Given the description of an element on the screen output the (x, y) to click on. 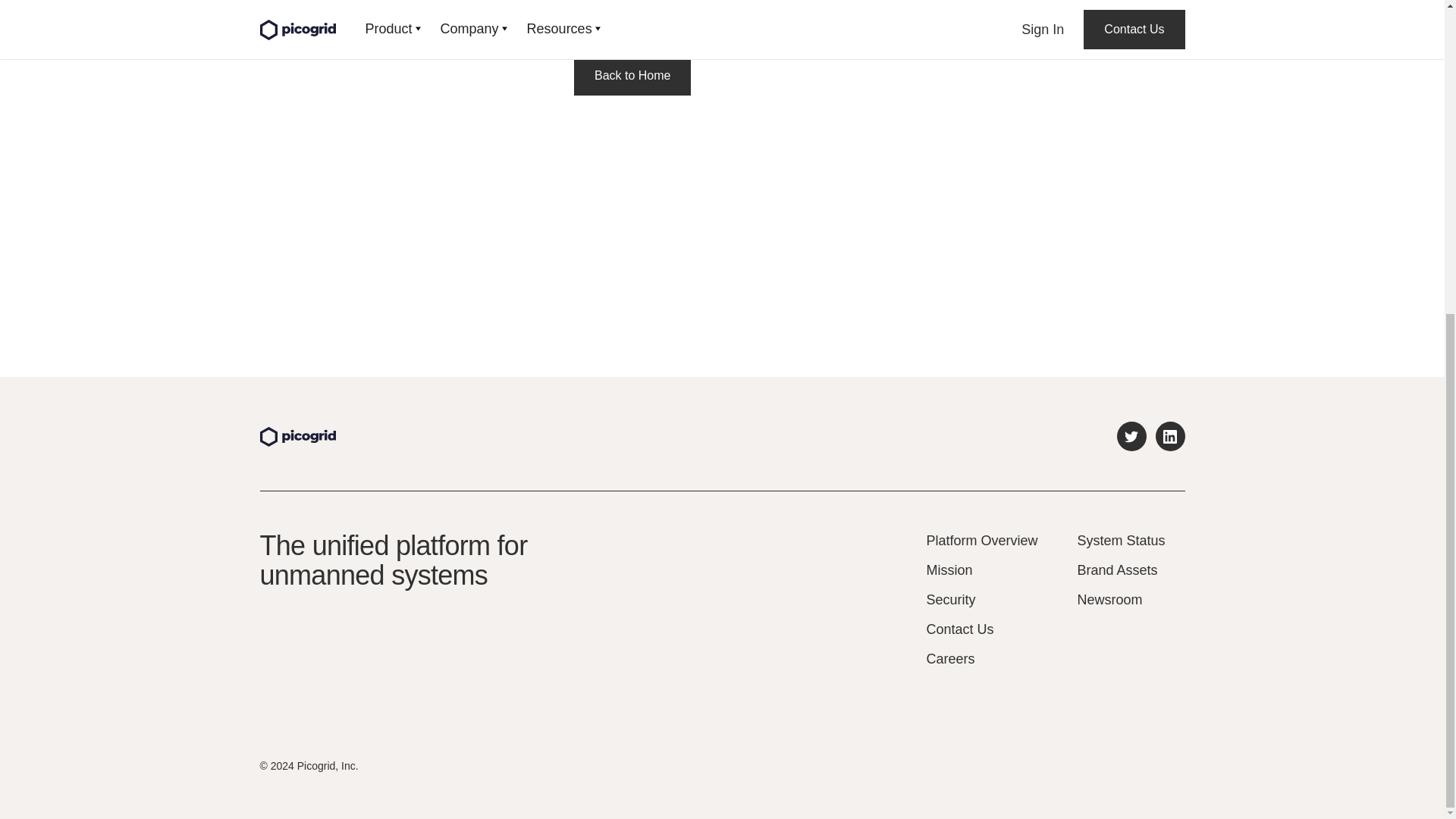
Platform Overview (981, 540)
Newsroom (1120, 599)
Contact Us (981, 629)
Back to Home (631, 75)
Security (981, 599)
Mission (981, 569)
System Status (1120, 540)
Careers (981, 659)
contact us. (606, 6)
Brand Assets (1120, 569)
